Given the description of an element on the screen output the (x, y) to click on. 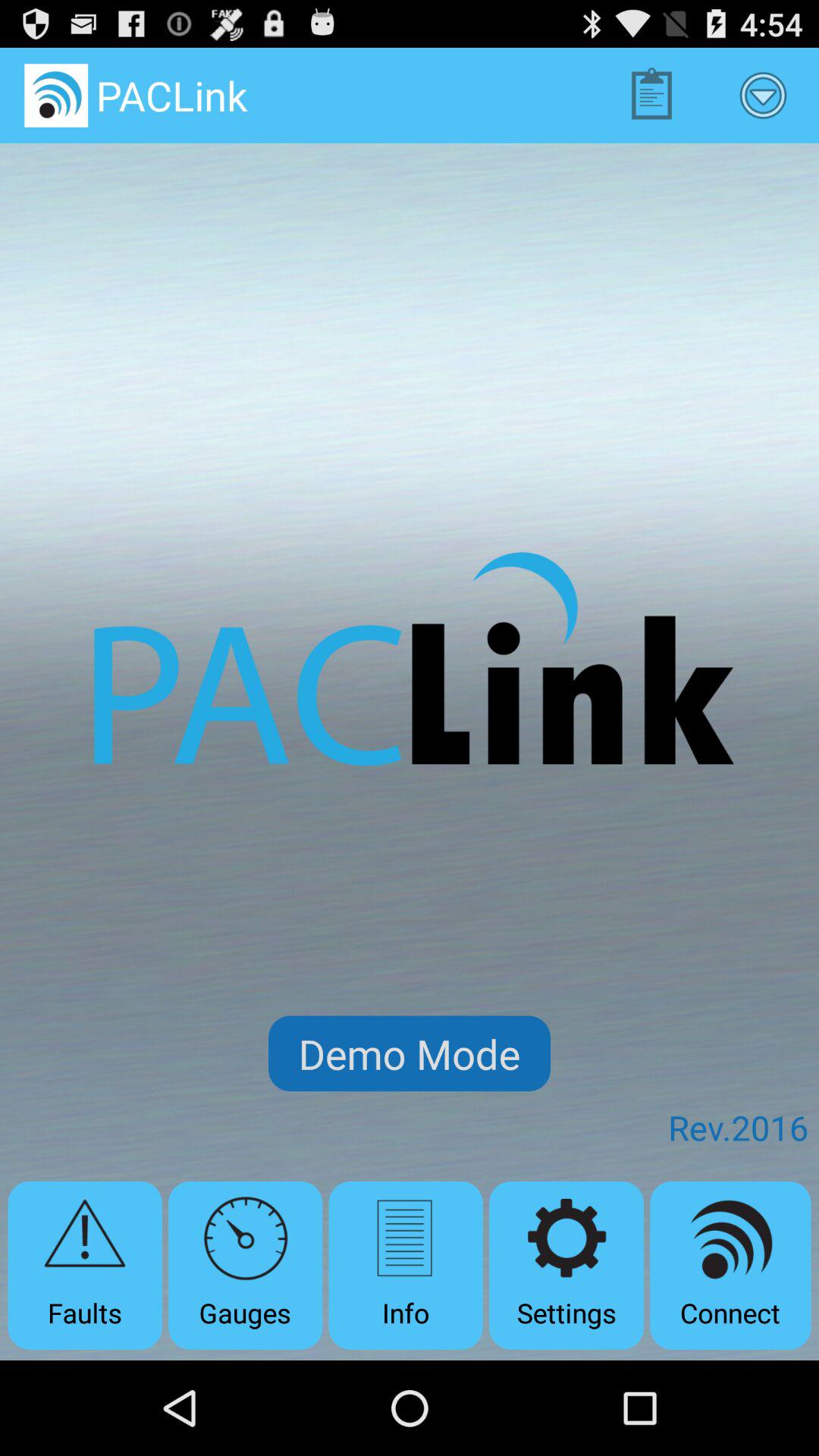
press icon to the right of the paclink icon (651, 95)
